Given the description of an element on the screen output the (x, y) to click on. 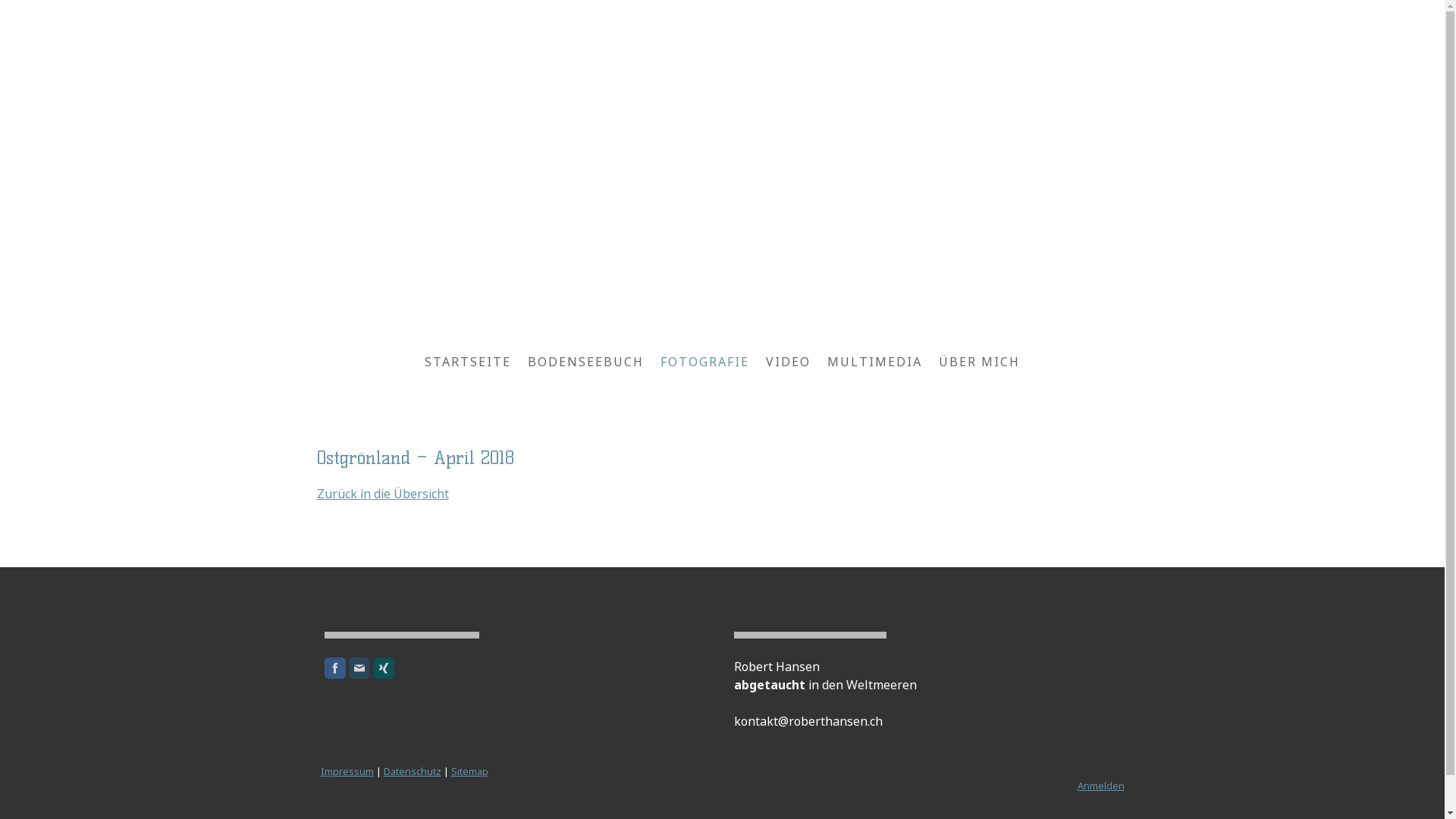
Datenschutz Element type: text (412, 771)
BODENSEEBUCH Element type: text (585, 361)
Sitemap Element type: text (468, 771)
E-Mail Element type: hover (359, 667)
Anmelden Element type: text (1099, 785)
FOTOGRAFIE Element type: text (704, 361)
STARTSEITE Element type: text (467, 361)
Impressum Element type: text (346, 771)
Xing Element type: hover (383, 667)
VIDEO Element type: text (788, 361)
MULTIMEDIA Element type: text (874, 361)
Facebook Element type: hover (334, 667)
